Given the description of an element on the screen output the (x, y) to click on. 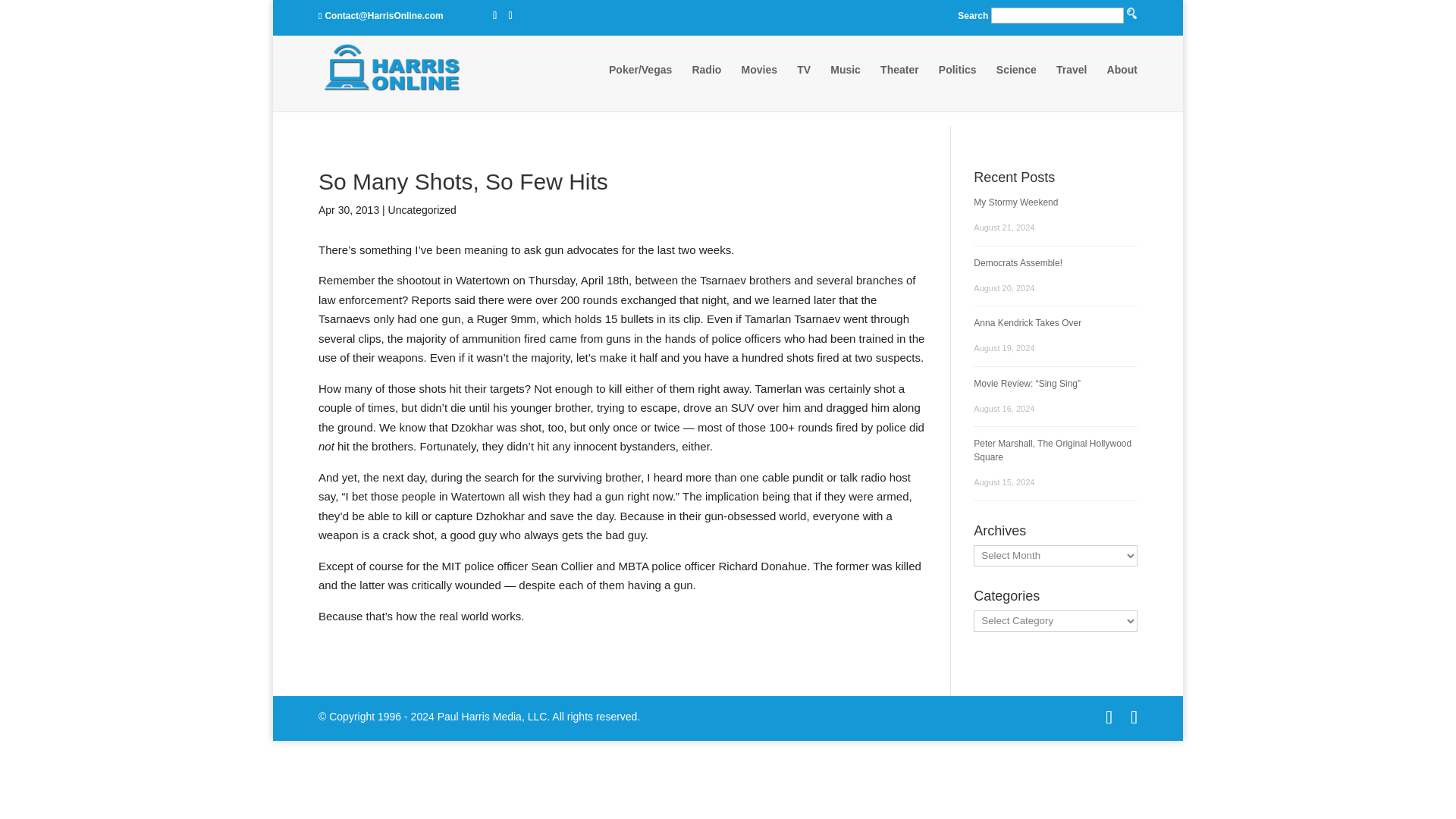
Peter Marshall, The Original Hollywood Square (1052, 450)
Theater (899, 84)
Science (1015, 84)
Search (794, 128)
Politics (957, 84)
Anna Kendrick Takes Over (1027, 322)
Movies (759, 84)
Democrats Assemble! (1018, 262)
My Stormy Weekend (1016, 202)
